Given the description of an element on the screen output the (x, y) to click on. 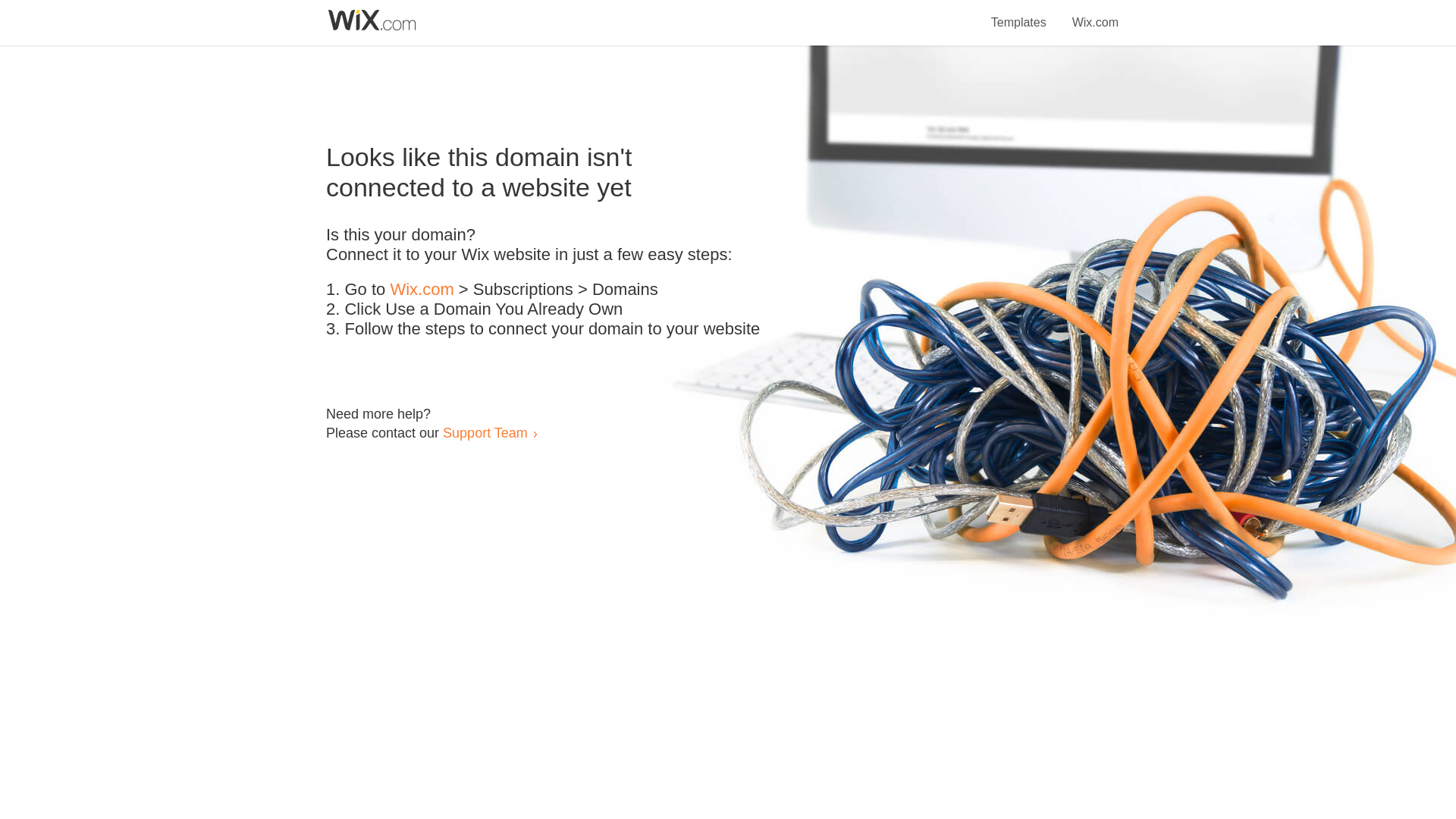
Wix.com (1095, 14)
Support Team (484, 432)
Templates (1018, 14)
Wix.com (421, 289)
